Given the description of an element on the screen output the (x, y) to click on. 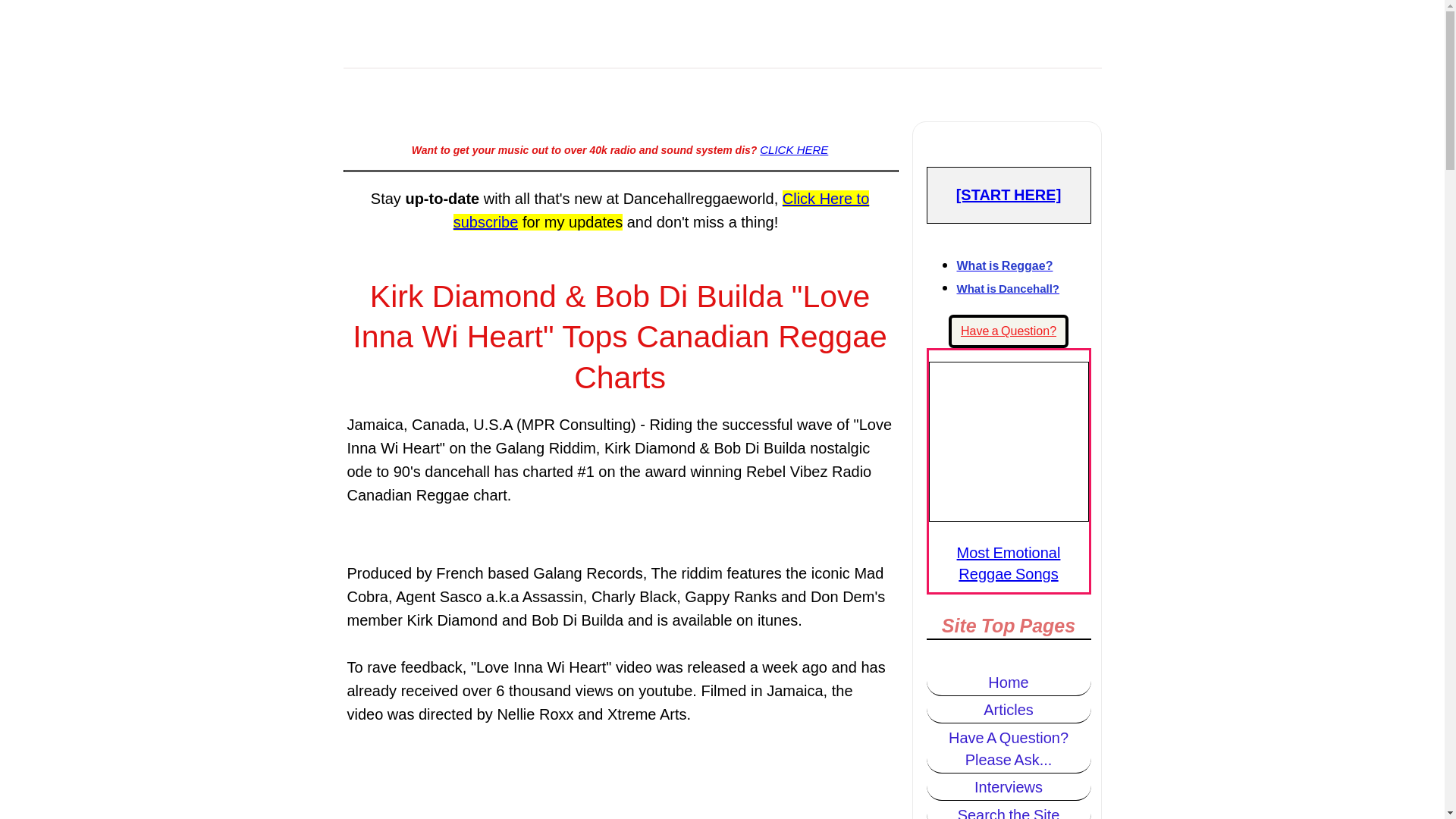
Articles (1008, 710)
Interviews (1008, 787)
Go to Most Emotional Reggae Songs (1007, 515)
Home (1008, 683)
Most Emotional Reggae Songs (1008, 563)
Click Here to subscribe (660, 210)
Have A Question? Please Ask... (1008, 748)
What is Dancehall? (1007, 287)
Most Emotional Reggae Songs (1007, 441)
Search the Site (1008, 810)
What is Reggae? (1004, 265)
Have a Question? (1008, 331)
CLICK HERE (794, 150)
Go to Have A Question? Please Ask... (1008, 331)
